Given the description of an element on the screen output the (x, y) to click on. 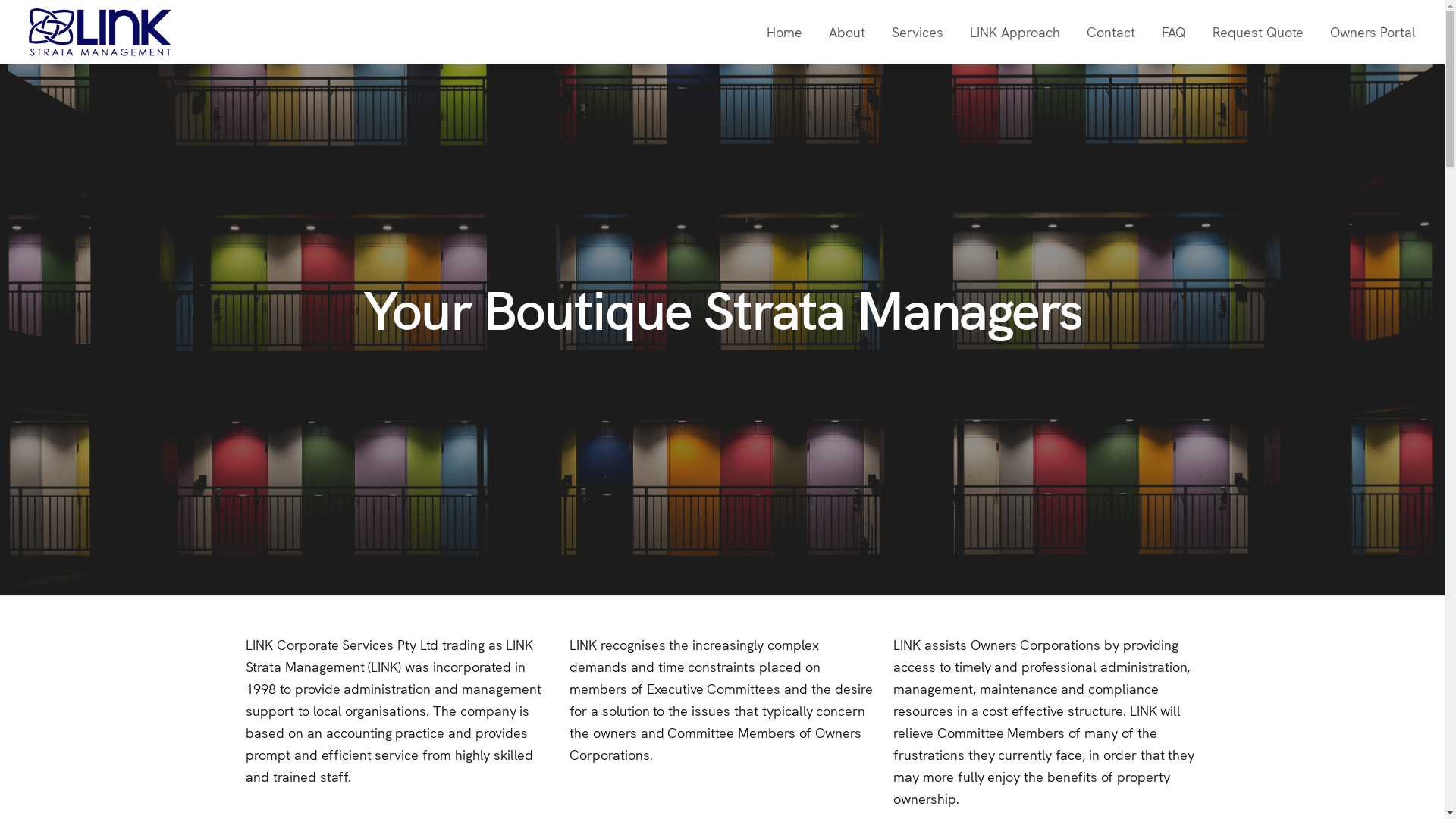
LINK Approach Element type: text (1014, 32)
Owners Portal Element type: text (1372, 32)
Home Element type: text (784, 32)
Request Quote Element type: text (1257, 32)
Contact Element type: text (1110, 32)
Services Element type: text (917, 32)
About Element type: text (846, 32)
FAQ Element type: text (1173, 32)
